Given the description of an element on the screen output the (x, y) to click on. 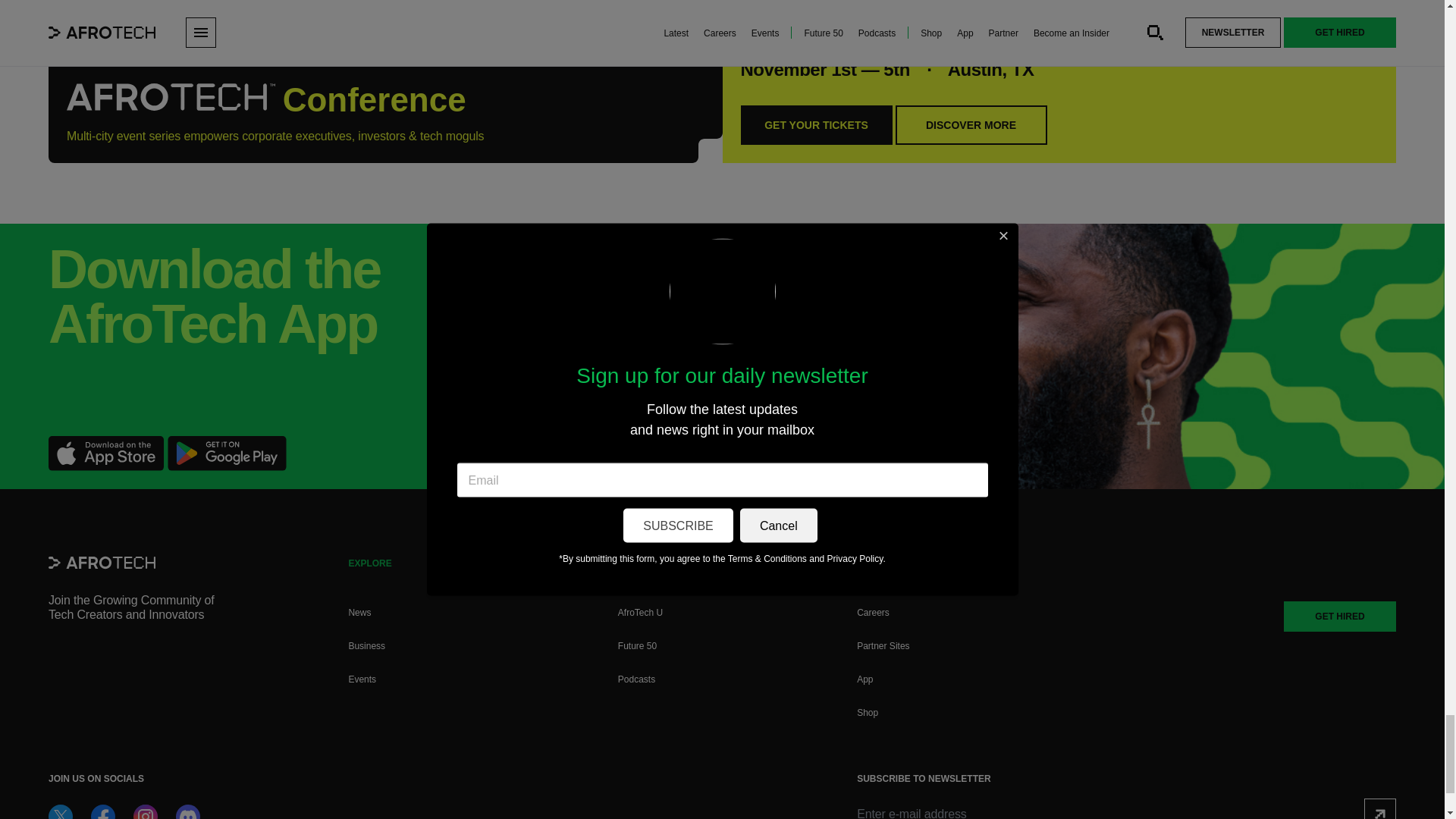
conference (170, 96)
